Given the description of an element on the screen output the (x, y) to click on. 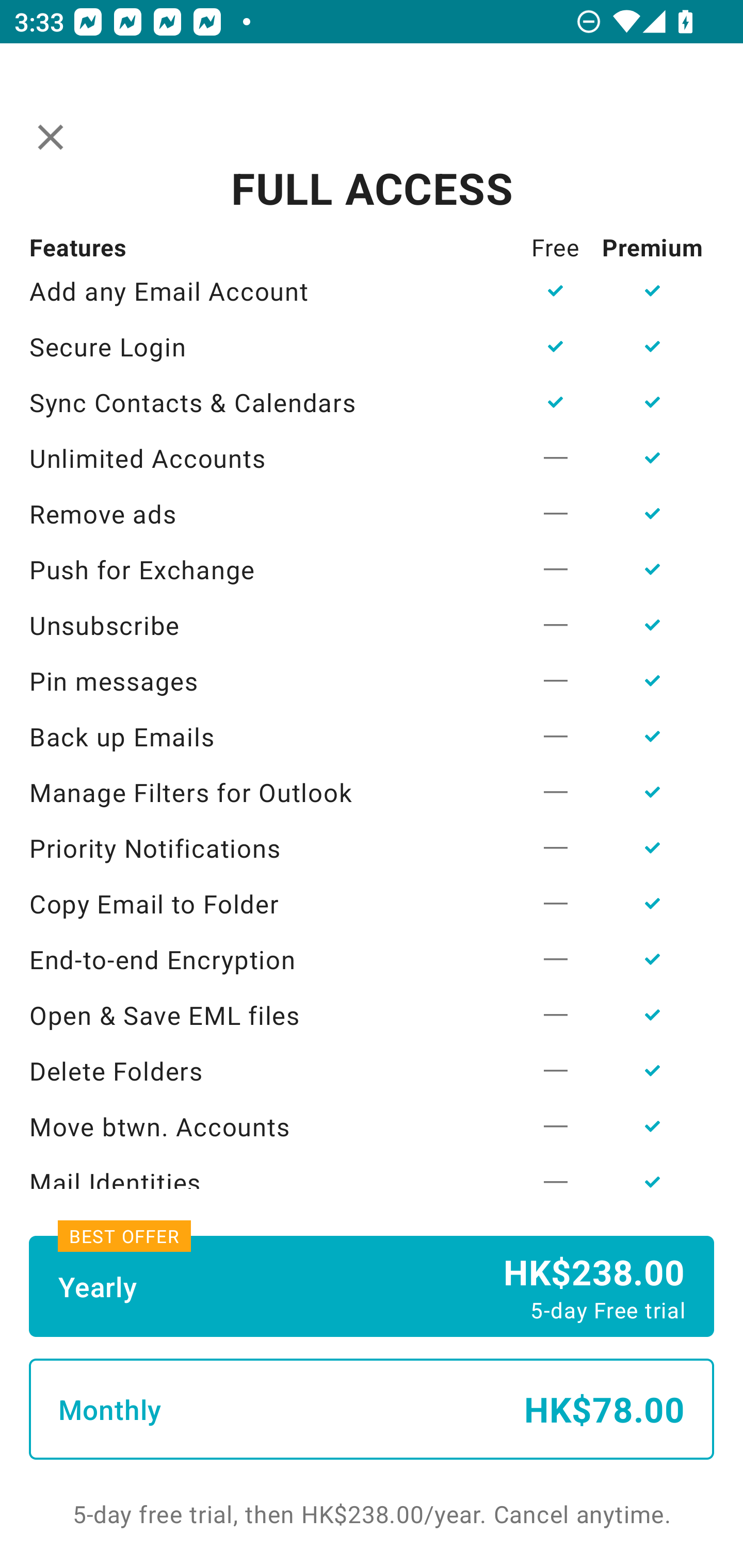
Yearly HK$238.00 5-day Free trial (371, 1286)
Monthly HK$78.00 (371, 1408)
